Given the description of an element on the screen output the (x, y) to click on. 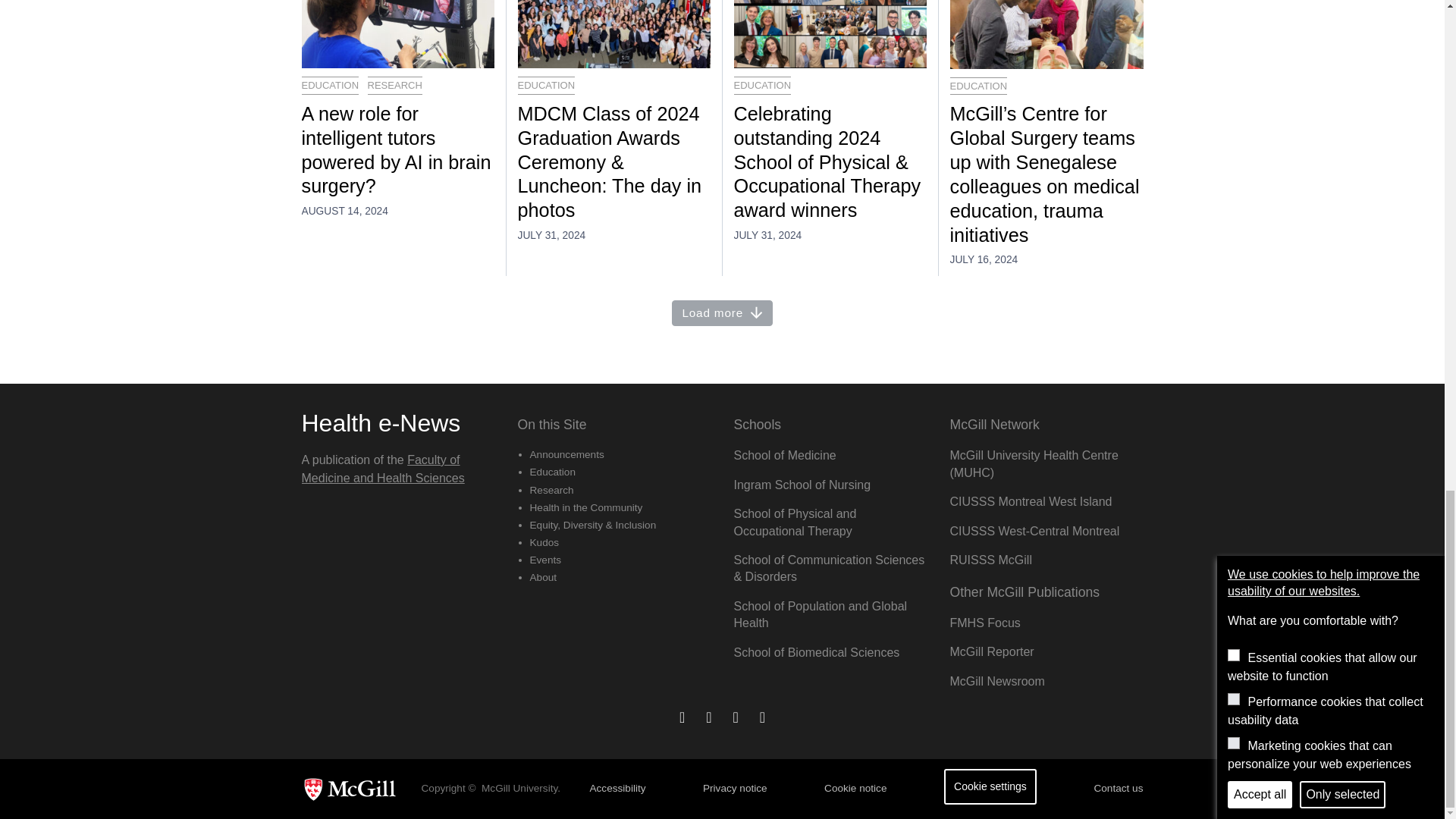
RESEARCH (395, 85)
EDUCATION (762, 85)
Home (381, 422)
Load more (722, 313)
Health e-News (381, 422)
EDUCATION (545, 85)
EDUCATION (978, 85)
McGill University (355, 788)
EDUCATION (330, 85)
